Given the description of an element on the screen output the (x, y) to click on. 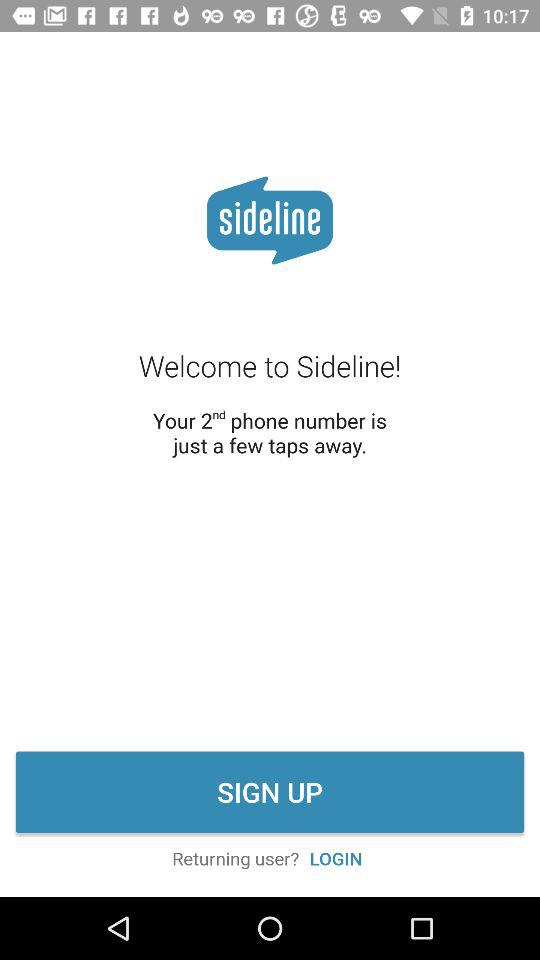
scroll until login icon (335, 858)
